Given the description of an element on the screen output the (x, y) to click on. 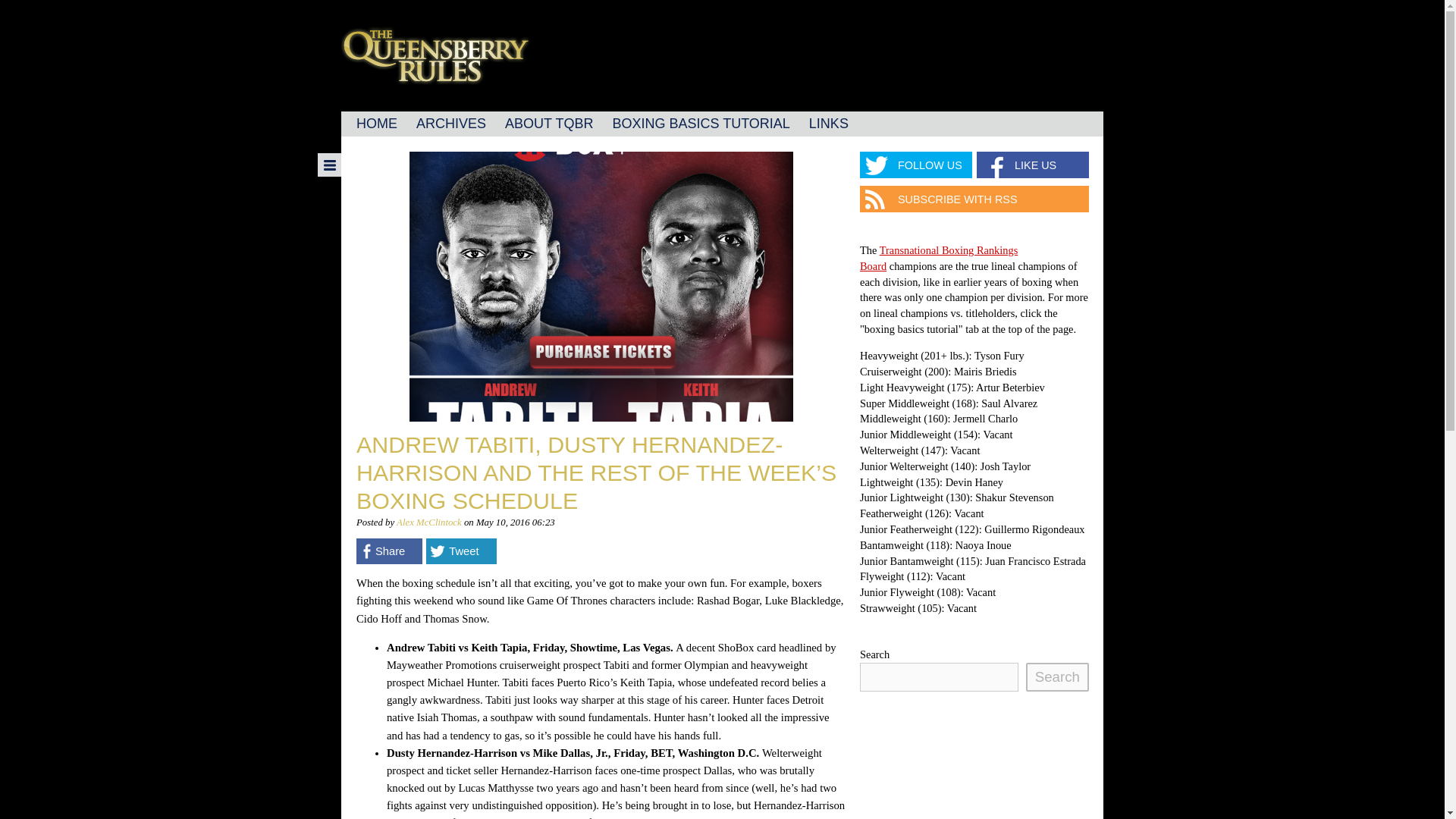
SUBSCRIBE WITH RSS (974, 198)
ARCHIVES (451, 123)
FOLLOW US (916, 164)
Search (1057, 676)
LIKE US (1032, 164)
BOXING BASICS TUTORIAL (700, 123)
ABOUT TQBR (548, 123)
Transnational Boxing Rankings Board (938, 257)
LINKS (829, 123)
HOME (376, 123)
Alex McClintock (428, 521)
Share (389, 551)
Tweet (461, 551)
